Given the description of an element on the screen output the (x, y) to click on. 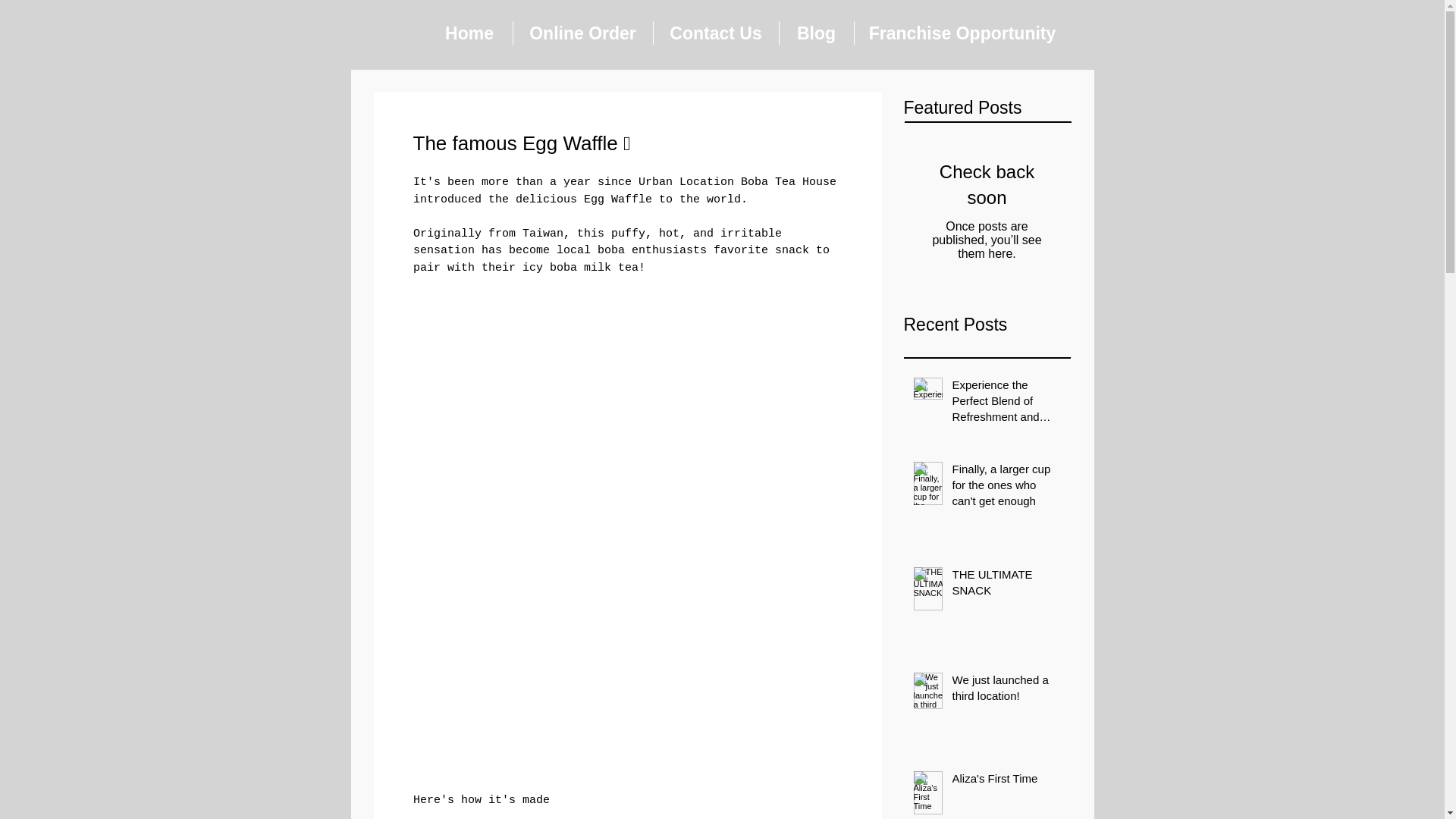
Finally, a larger cup for the ones who can't get enough (1006, 488)
THE ULTIMATE SNACK (1006, 585)
Home (469, 33)
Online Order (582, 33)
Aliza's First Time (1006, 781)
We just launched a third location! (1006, 690)
Blog (815, 33)
Contact Us (715, 33)
Franchise Opportunity (961, 33)
